Given the description of an element on the screen output the (x, y) to click on. 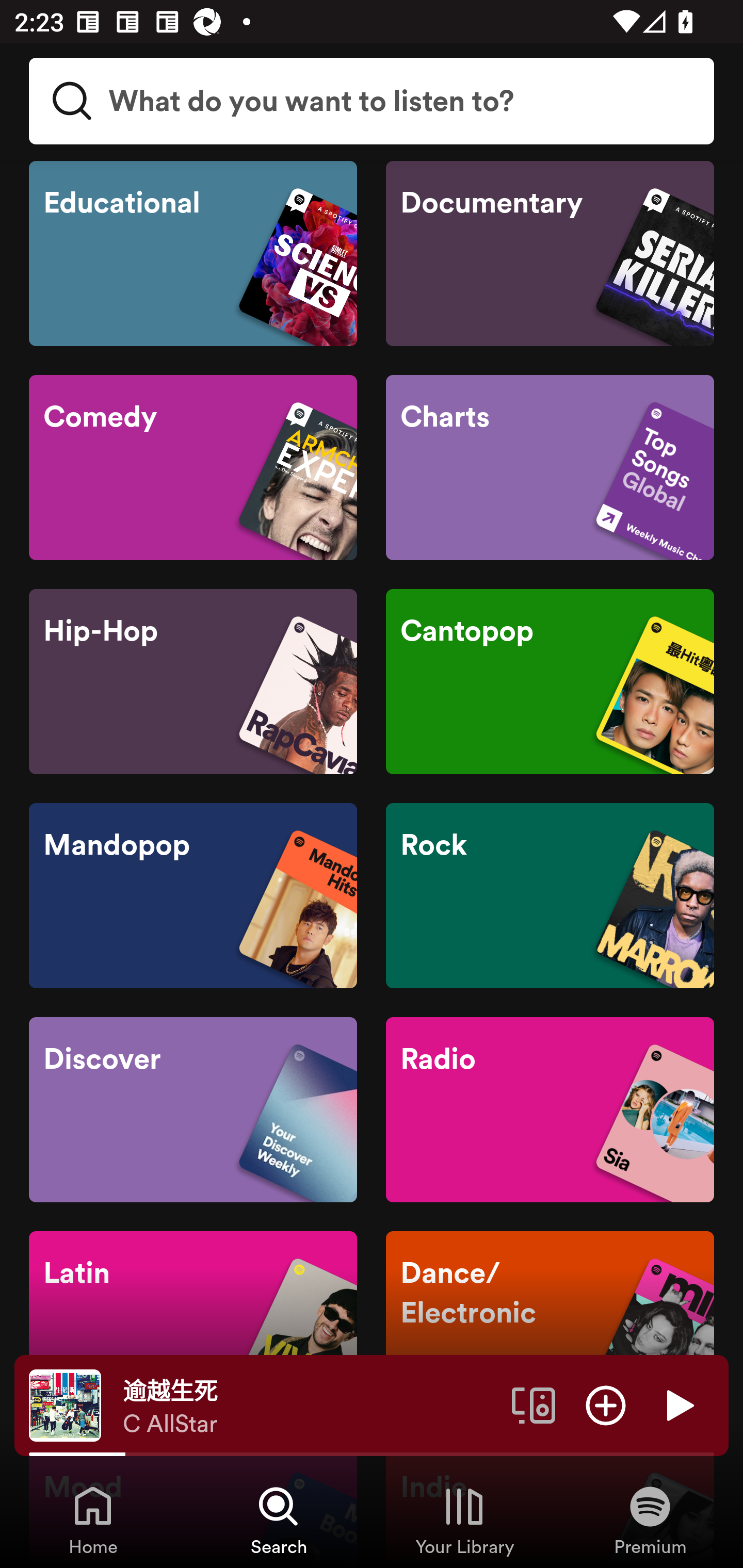
Educational (192, 253)
Documentary (549, 253)
Comedy (192, 466)
Charts (549, 466)
Hip-Hop (192, 681)
Cantopop (549, 681)
Mandopop (192, 894)
Rock (549, 894)
Discover (192, 1109)
Radio (549, 1109)
Latin (192, 1322)
Dance/Electronic (549, 1322)
逾越生死 C AllStar (309, 1405)
The cover art of the currently playing track (64, 1404)
Connect to a device. Opens the devices menu (533, 1404)
Add item (605, 1404)
Play (677, 1404)
Home, Tab 1 of 4 Home Home (92, 1519)
Search, Tab 2 of 4 Search Search (278, 1519)
Your Library, Tab 3 of 4 Your Library Your Library (464, 1519)
Premium, Tab 4 of 4 Premium Premium (650, 1519)
